Given the description of an element on the screen output the (x, y) to click on. 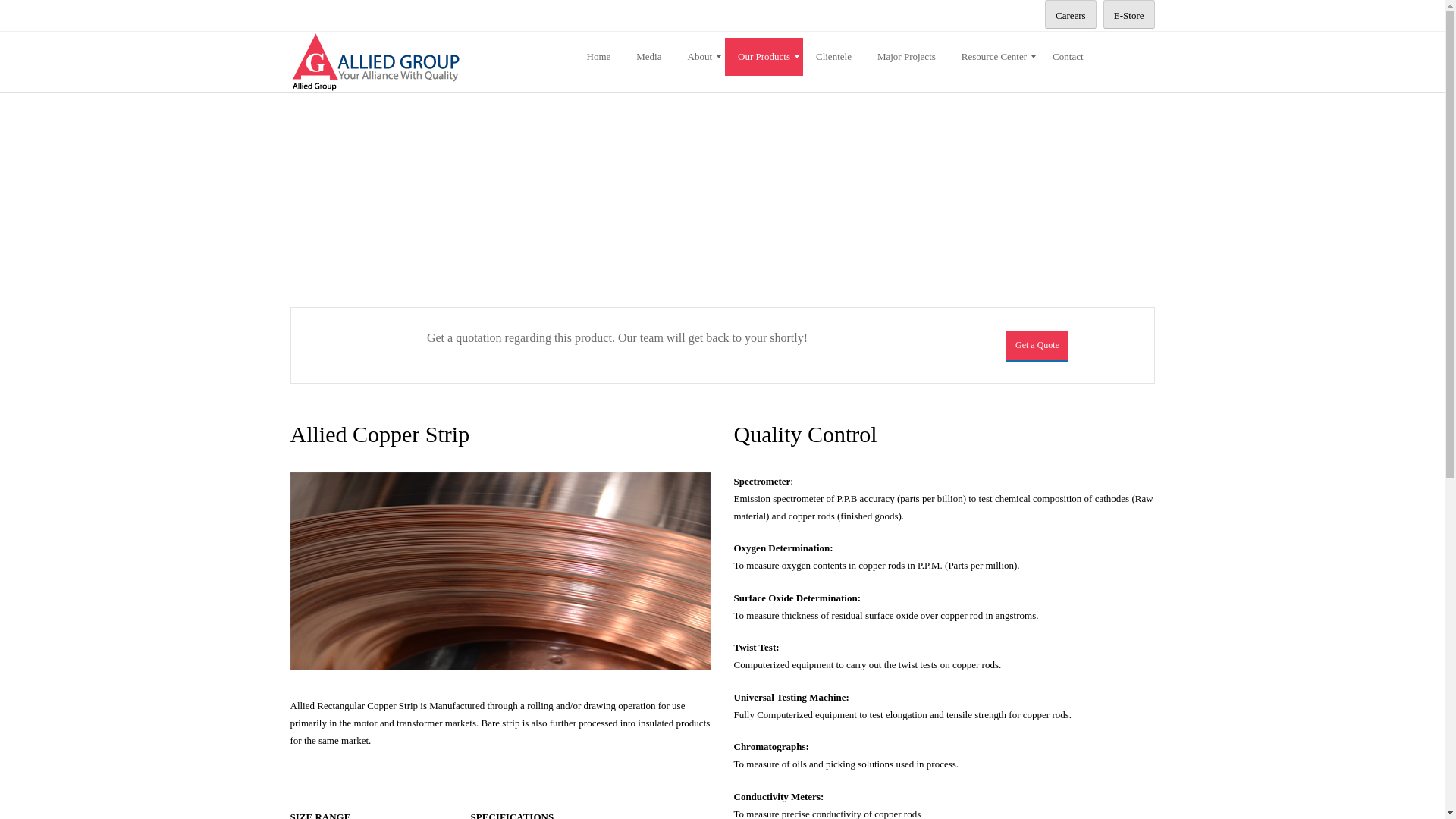
Careers (1070, 14)
Resource Center (994, 56)
Media (648, 56)
Our Products (764, 56)
Major Projects (906, 56)
Careers (1070, 15)
E-Store (1128, 14)
E-Store (1128, 15)
Allied Group (433, 61)
Home (598, 56)
About (700, 56)
Clientele (833, 56)
